Given the description of an element on the screen output the (x, y) to click on. 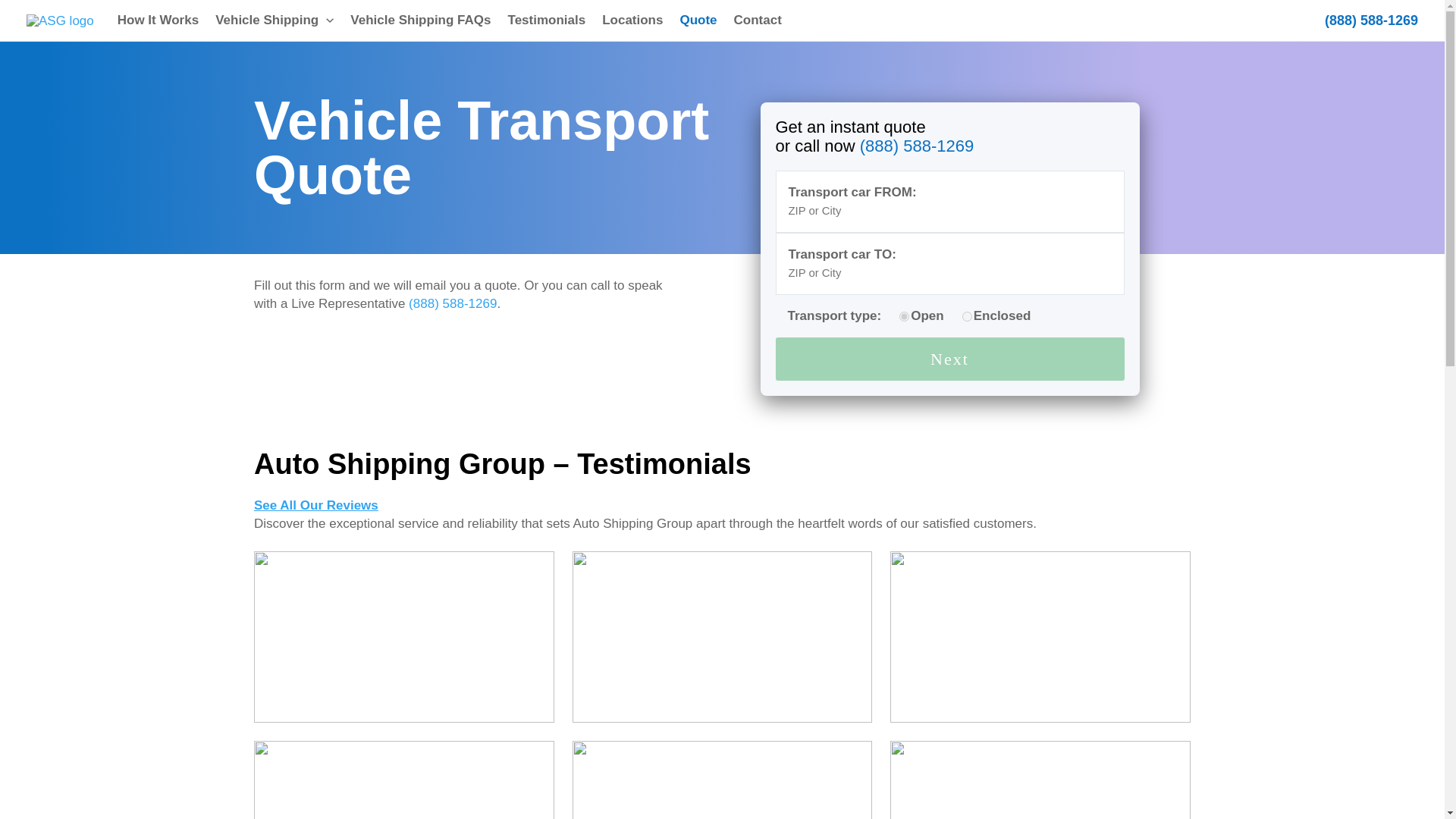
Contact (757, 20)
How It Works (157, 20)
Locations (632, 20)
Testimonials (546, 20)
Quote (698, 20)
Vehicle Shipping FAQs (420, 20)
enclosed (967, 316)
open (903, 316)
Next (949, 358)
Vehicle Shipping (274, 20)
